Given the description of an element on the screen output the (x, y) to click on. 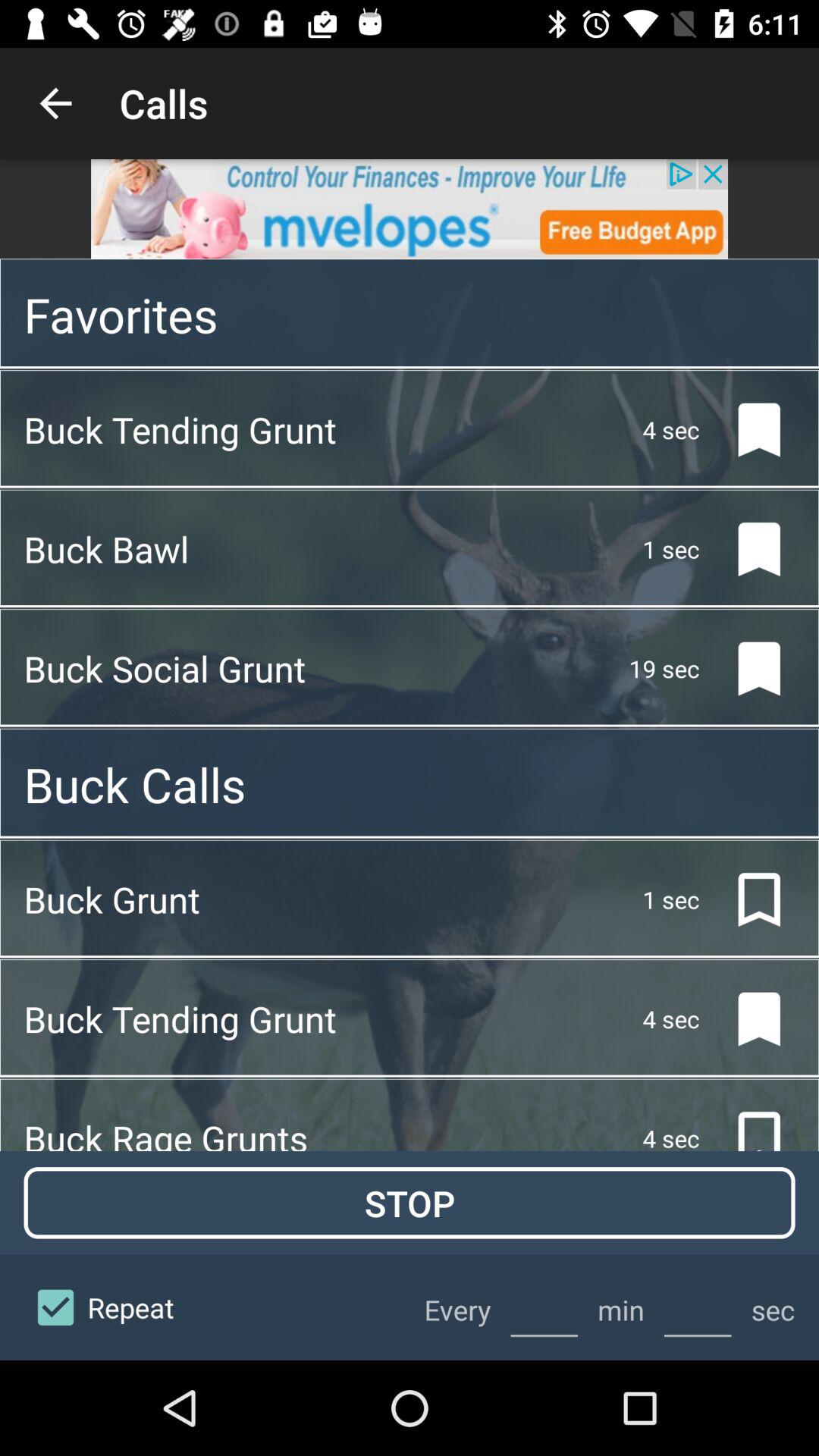
set your time (697, 1307)
